Given the description of an element on the screen output the (x, y) to click on. 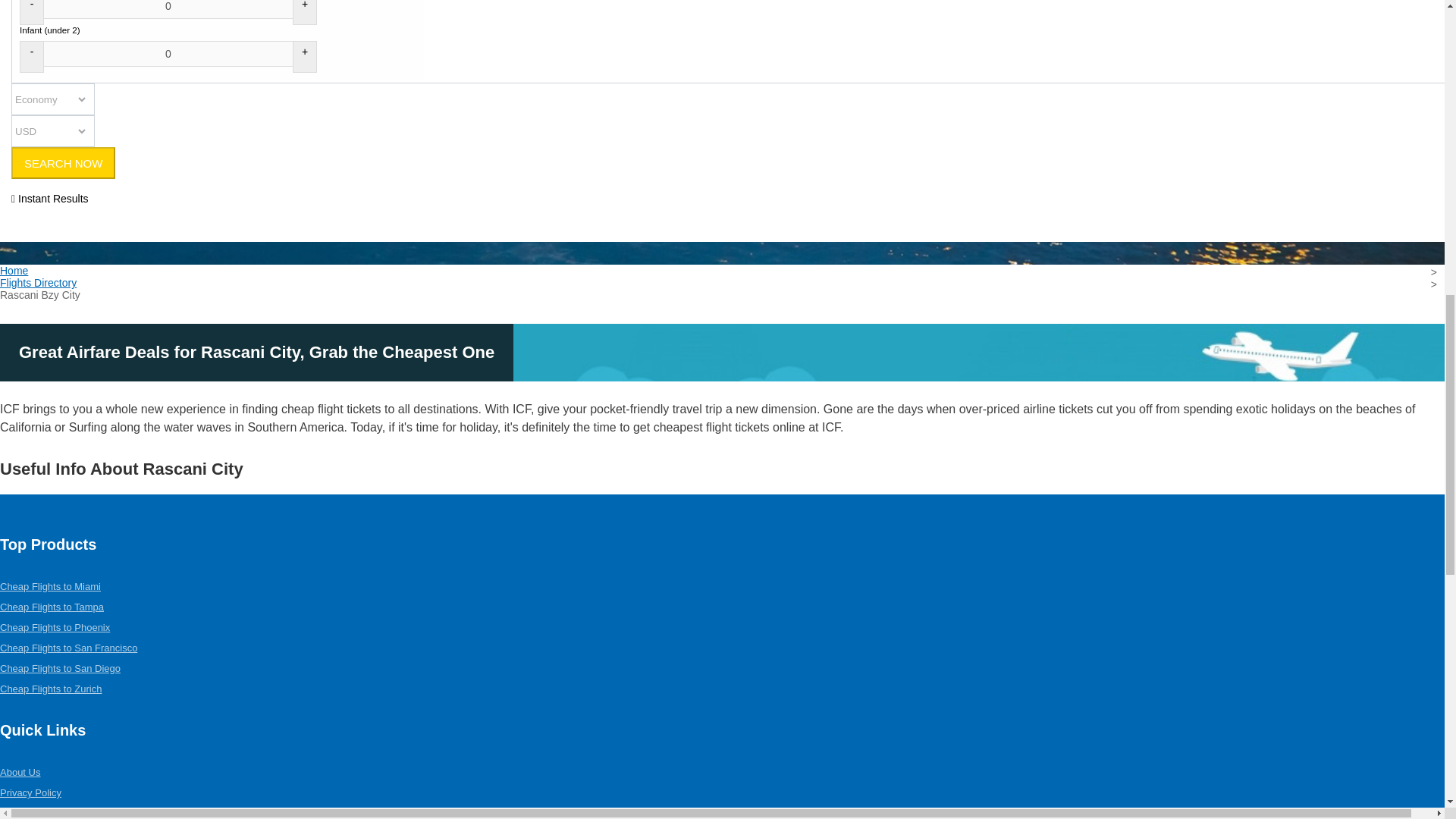
Cheap Flights to Phoenix (55, 627)
Cheap Flights to San Francisco (68, 647)
About Us (20, 772)
Cheap Flights to San Diego (60, 668)
SEARCH NOW (63, 163)
Flights Directory (38, 282)
Disclaimer (23, 813)
Home (13, 270)
0 (167, 53)
0 (167, 9)
Cheap Flights to Tampa (51, 606)
Cheap Flights to Miami (50, 586)
Privacy Policy (30, 792)
Cheap Flights to Zurich (50, 688)
